Given the description of an element on the screen output the (x, y) to click on. 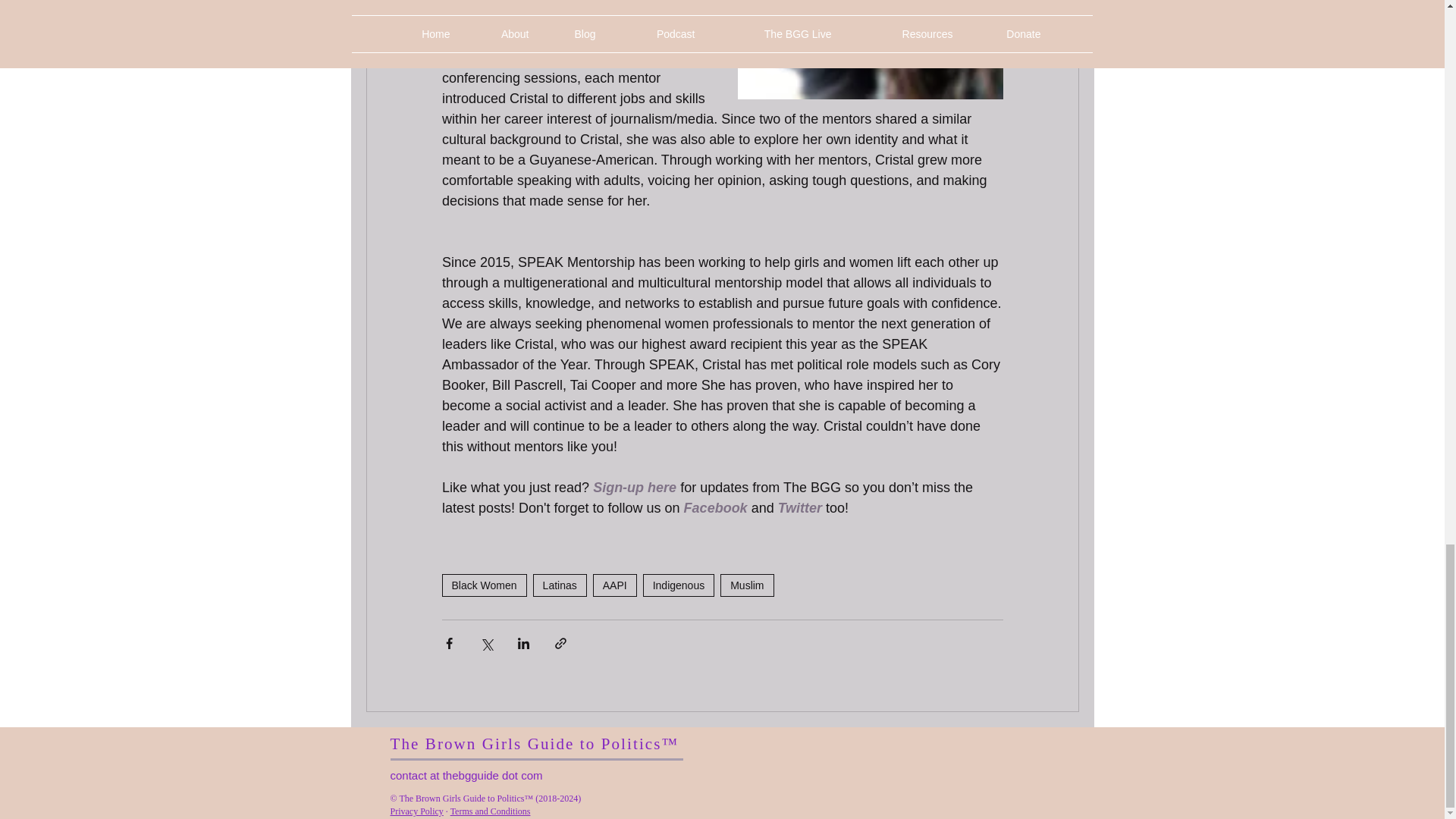
Muslim (746, 585)
Black Women (483, 585)
Facebook (714, 507)
Sign-up here (634, 487)
Latinas (559, 585)
Twitter (799, 507)
AAPI (614, 585)
Indigenous (678, 585)
Privacy Policy (416, 810)
Terms and Conditions (490, 810)
